Given the description of an element on the screen output the (x, y) to click on. 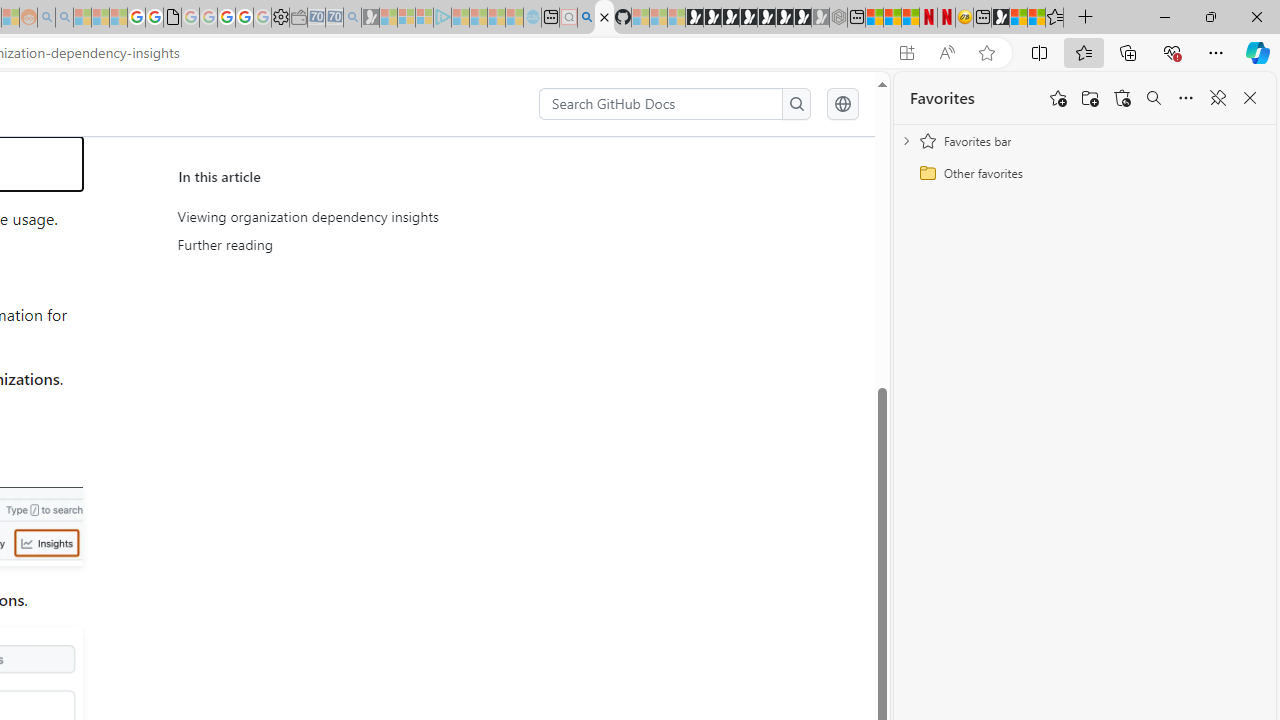
Further reading (365, 245)
Unpin favorites (1217, 98)
Further reading (362, 245)
Viewing organization dependency insights (365, 217)
Add this page to favorites (1058, 98)
